Given the description of an element on the screen output the (x, y) to click on. 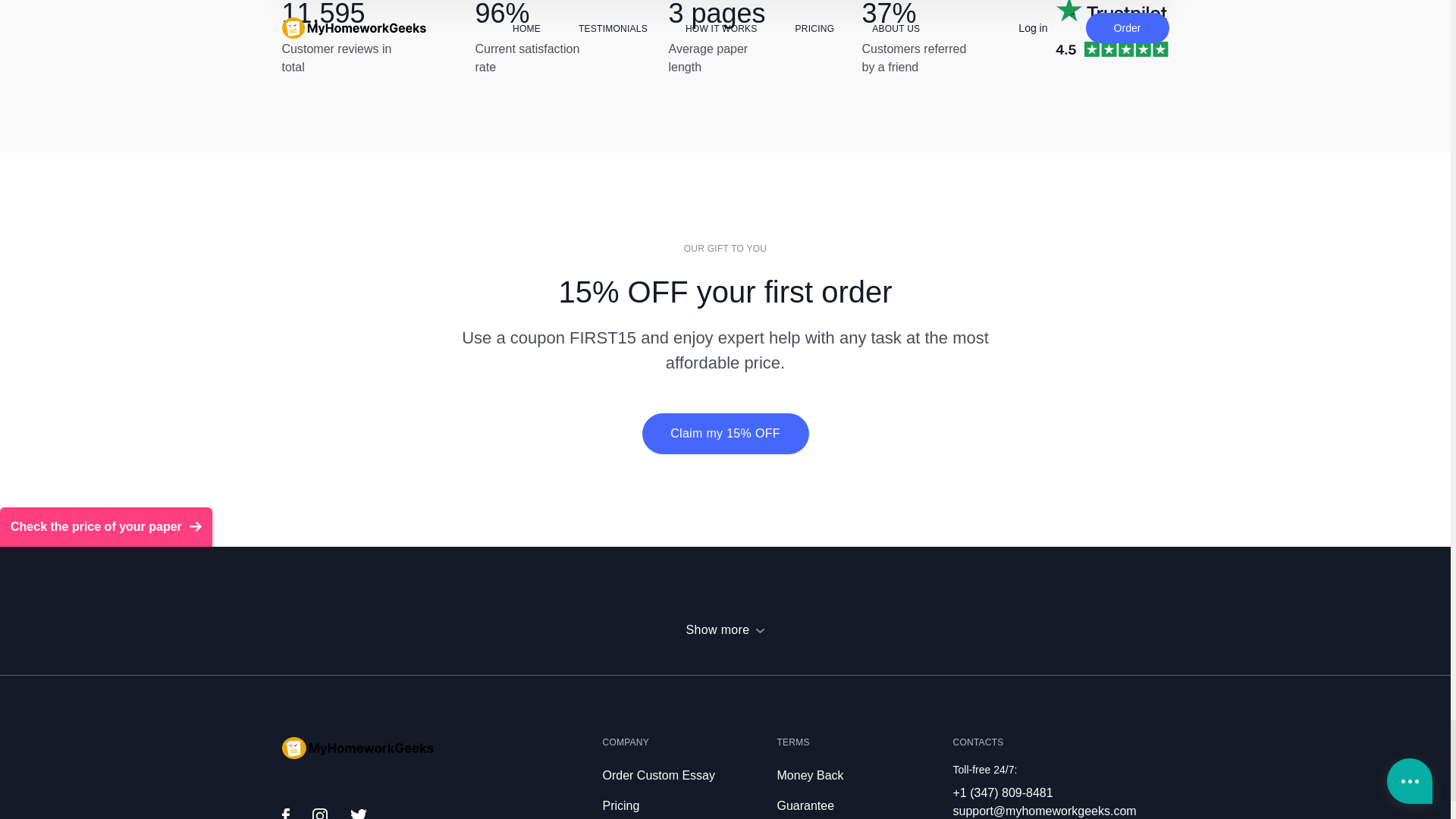
Order Custom Essay (658, 775)
Money Back Guarantee (809, 790)
Show more (725, 629)
Pricing (620, 805)
